Given the description of an element on the screen output the (x, y) to click on. 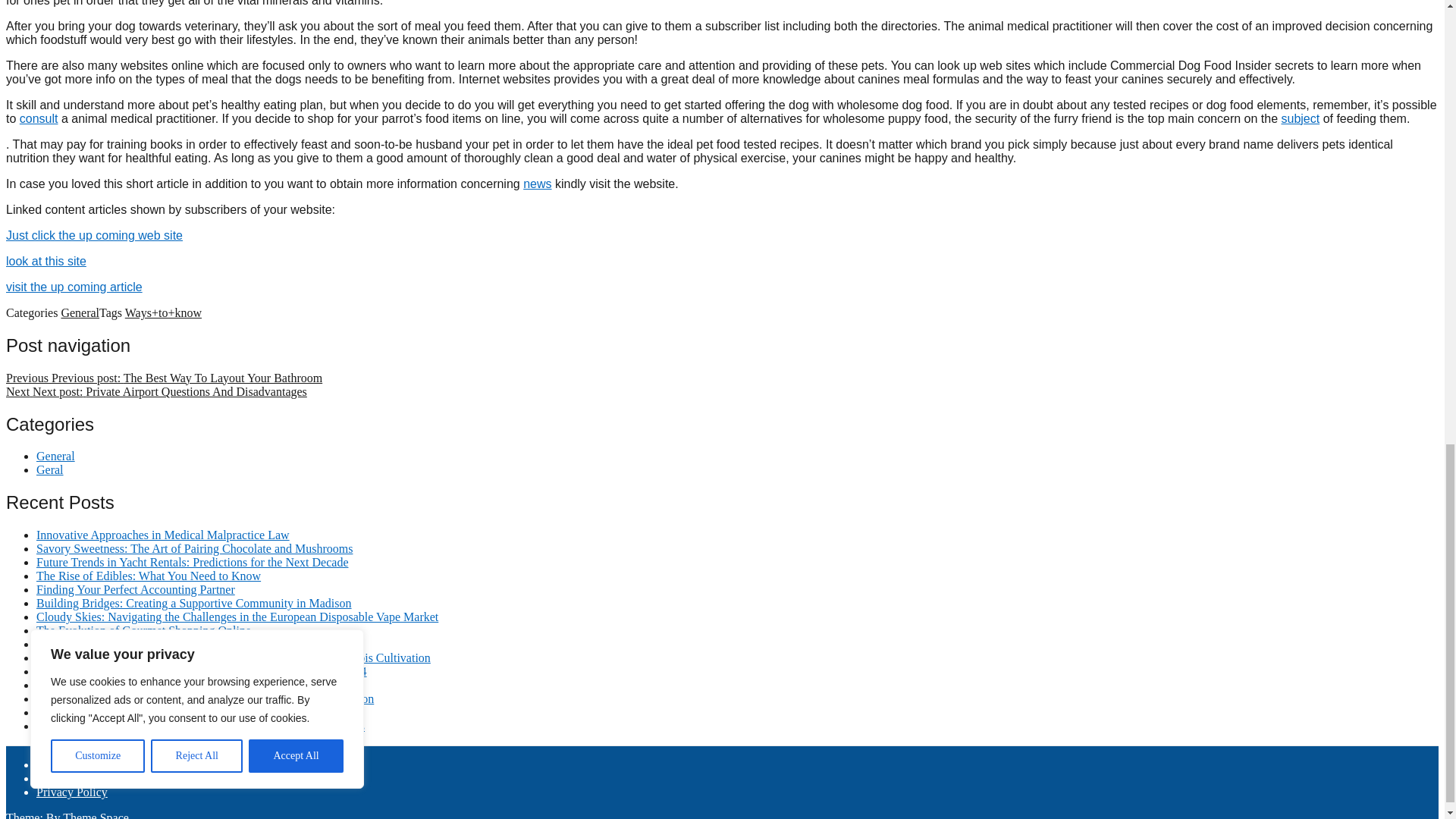
subject (1300, 118)
consult (39, 118)
The Rise of Edibles: What You Need to Know (148, 575)
Just click the up coming web site (94, 235)
General (55, 455)
General (80, 312)
Innovative Approaches in Medical Malpractice Law (162, 534)
Previous Previous post: The Best Way To Layout Your Bathroom (163, 377)
look at this site (45, 260)
